Given the description of an element on the screen output the (x, y) to click on. 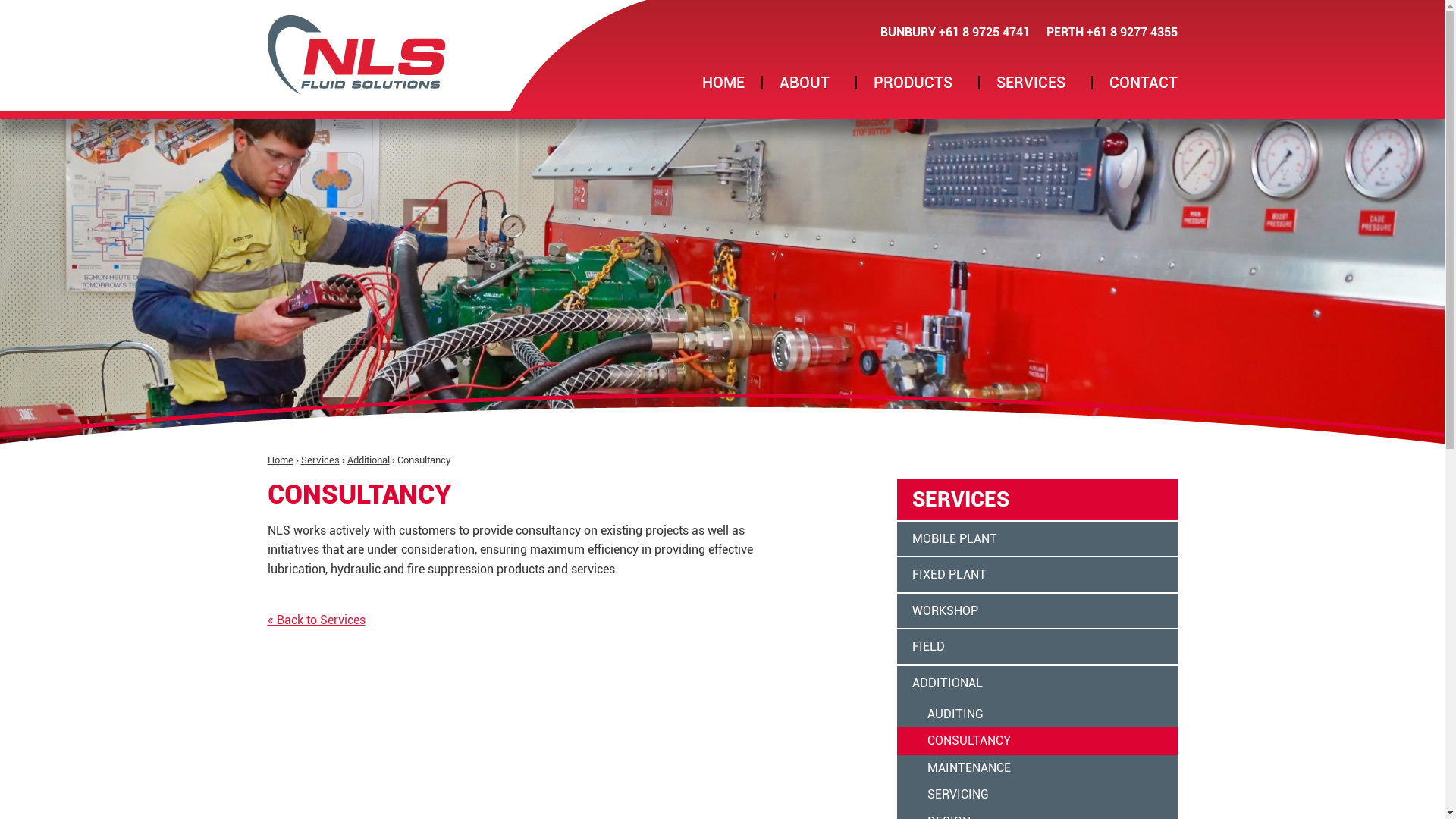
Services Element type: text (319, 459)
PERTH +61 8 9277 4355 Element type: text (1111, 32)
CONTACT Element type: text (1142, 82)
MOBILE PLANT Element type: text (1036, 539)
Additional Element type: text (368, 459)
FIELD Element type: text (1036, 647)
AUDITING Element type: text (1036, 714)
FIXED PLANT Element type: text (1036, 575)
CONSULTANCY Element type: text (1036, 740)
HOME Element type: text (723, 82)
ABOUT Element type: text (808, 82)
BUNBURY +61 8 9725 4741 Element type: text (954, 32)
Jump to navigation Element type: text (722, 2)
ADDITIONAL Element type: text (1036, 682)
Home Element type: hover (355, 54)
Home Element type: text (279, 459)
PRODUCTS Element type: text (917, 82)
MAINTENANCE Element type: text (1036, 767)
SERVICES Element type: text (1036, 500)
WORKSHOP Element type: text (1036, 611)
SERVICES Element type: text (1035, 82)
SERVICING Element type: text (1036, 794)
